Given the description of an element on the screen output the (x, y) to click on. 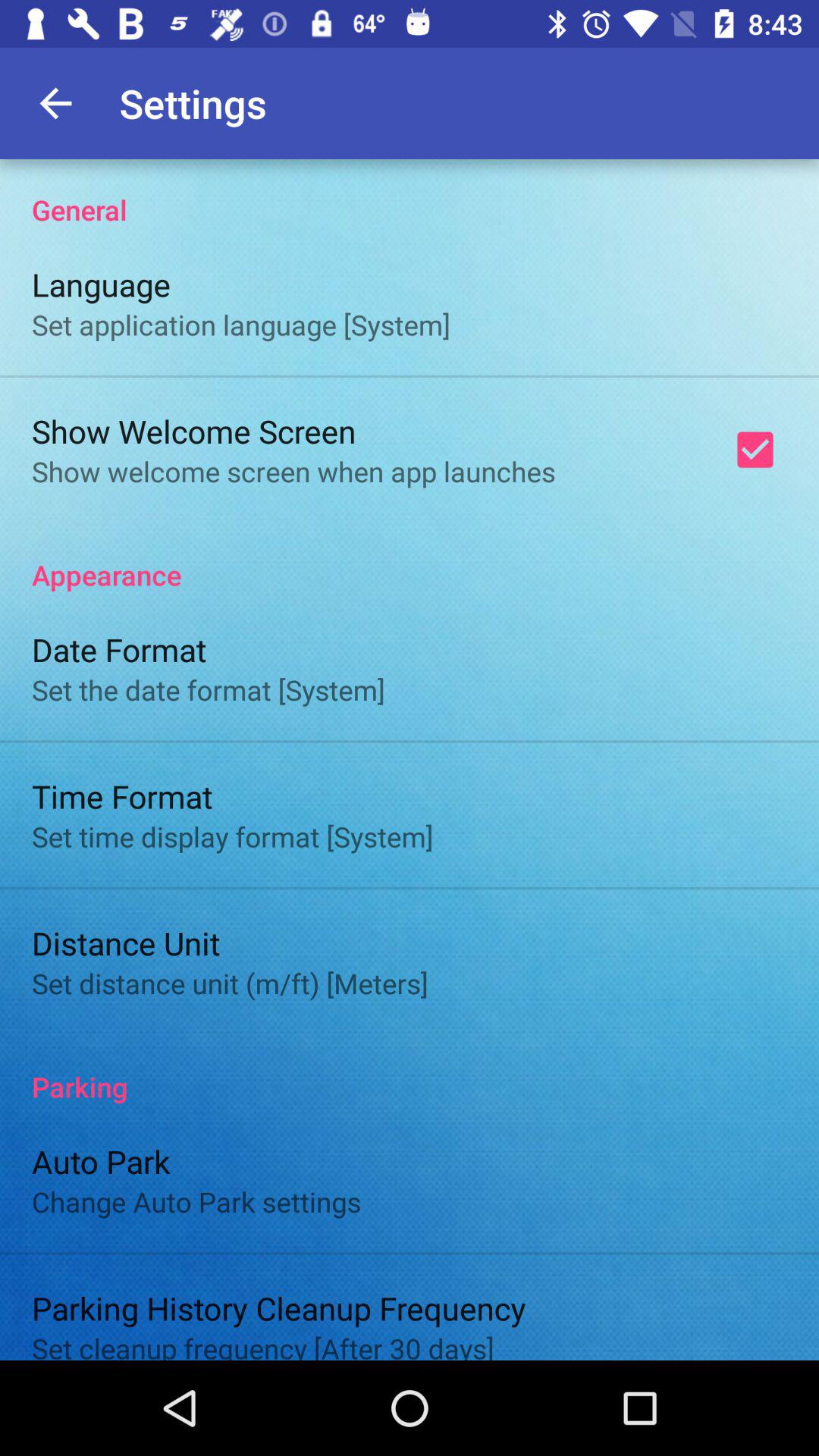
press item to the right of show welcome screen (755, 449)
